Given the description of an element on the screen output the (x, y) to click on. 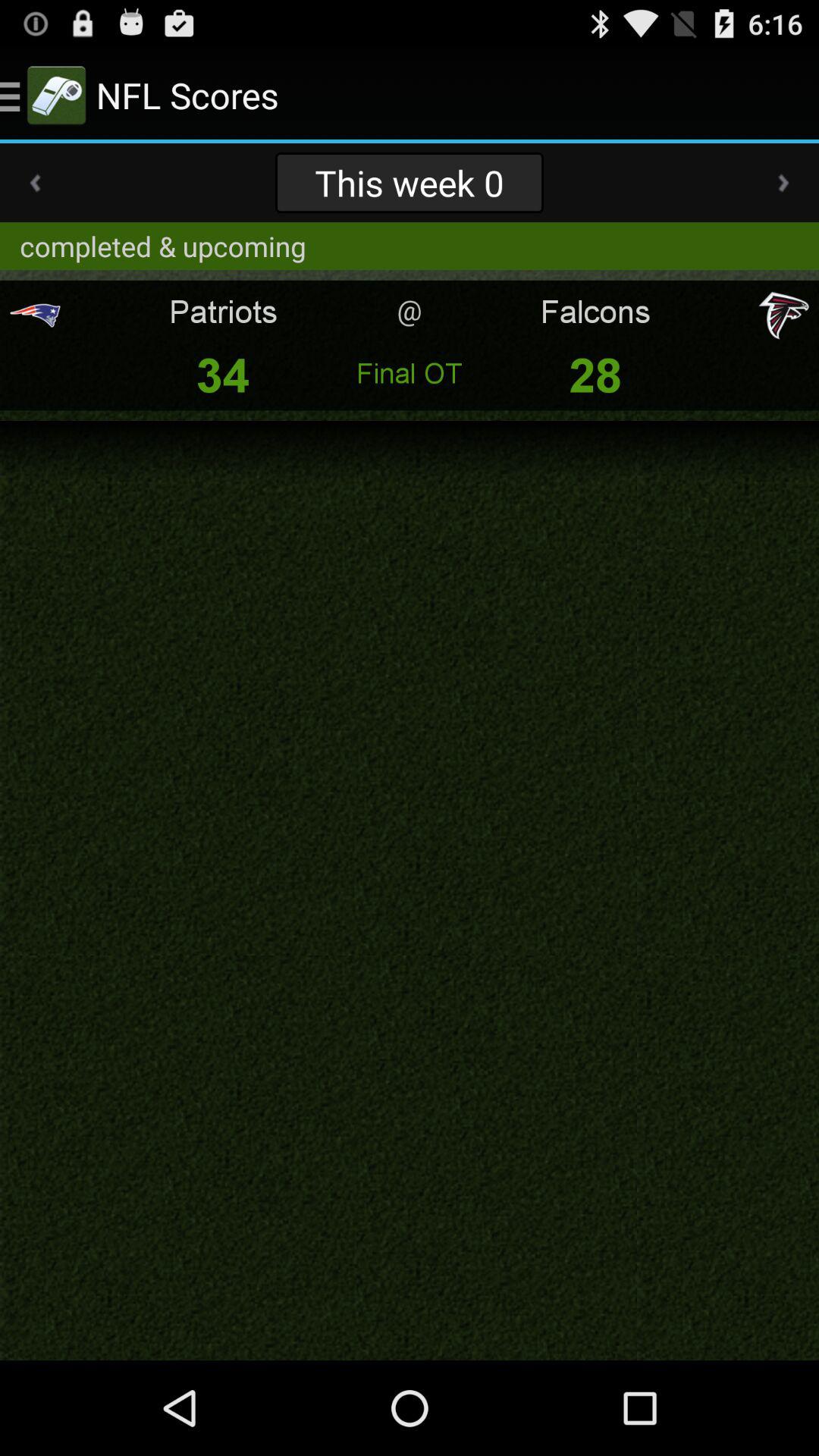
go to previous (35, 182)
